Given the description of an element on the screen output the (x, y) to click on. 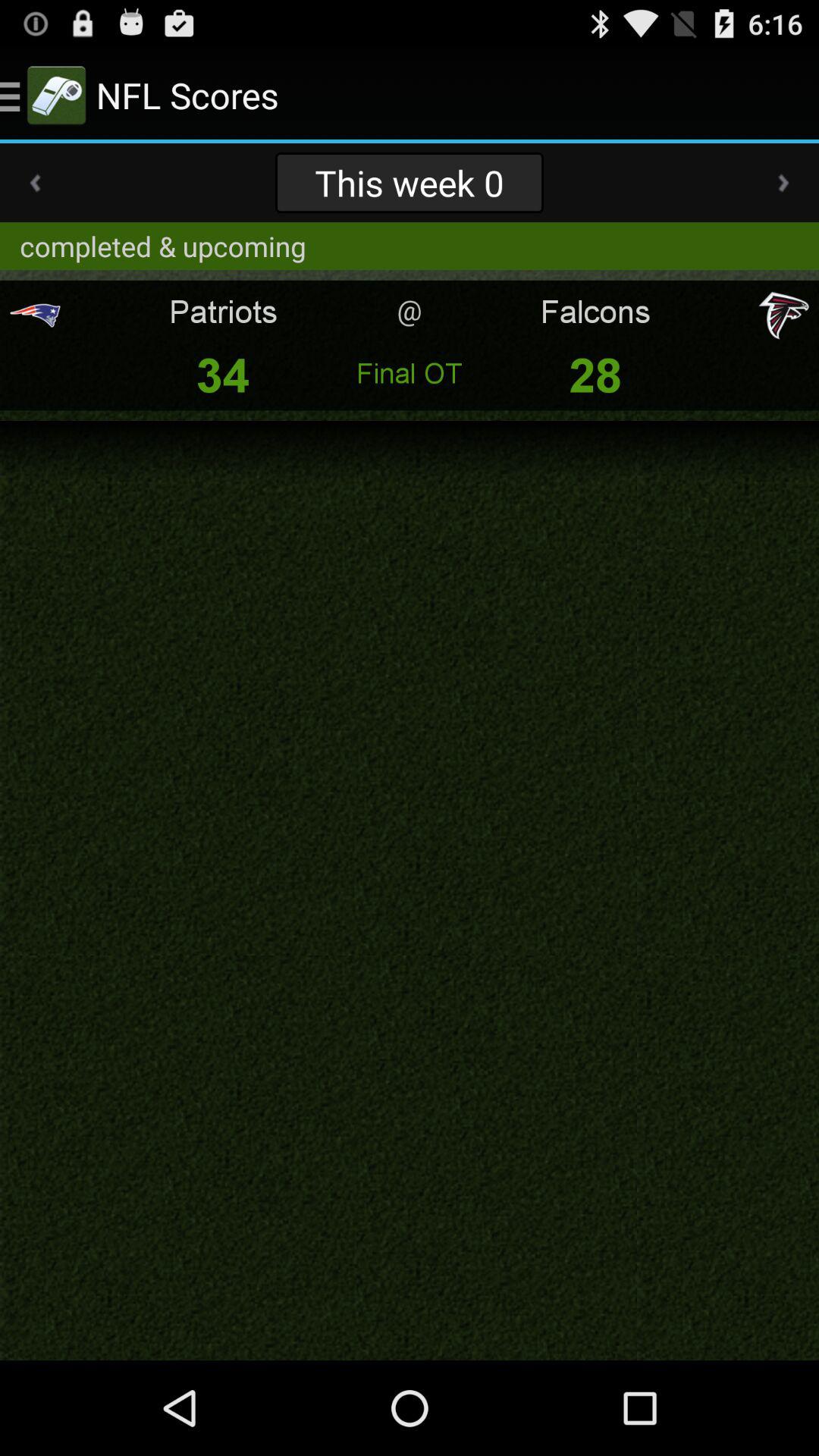
go to previous (35, 182)
